Given the description of an element on the screen output the (x, y) to click on. 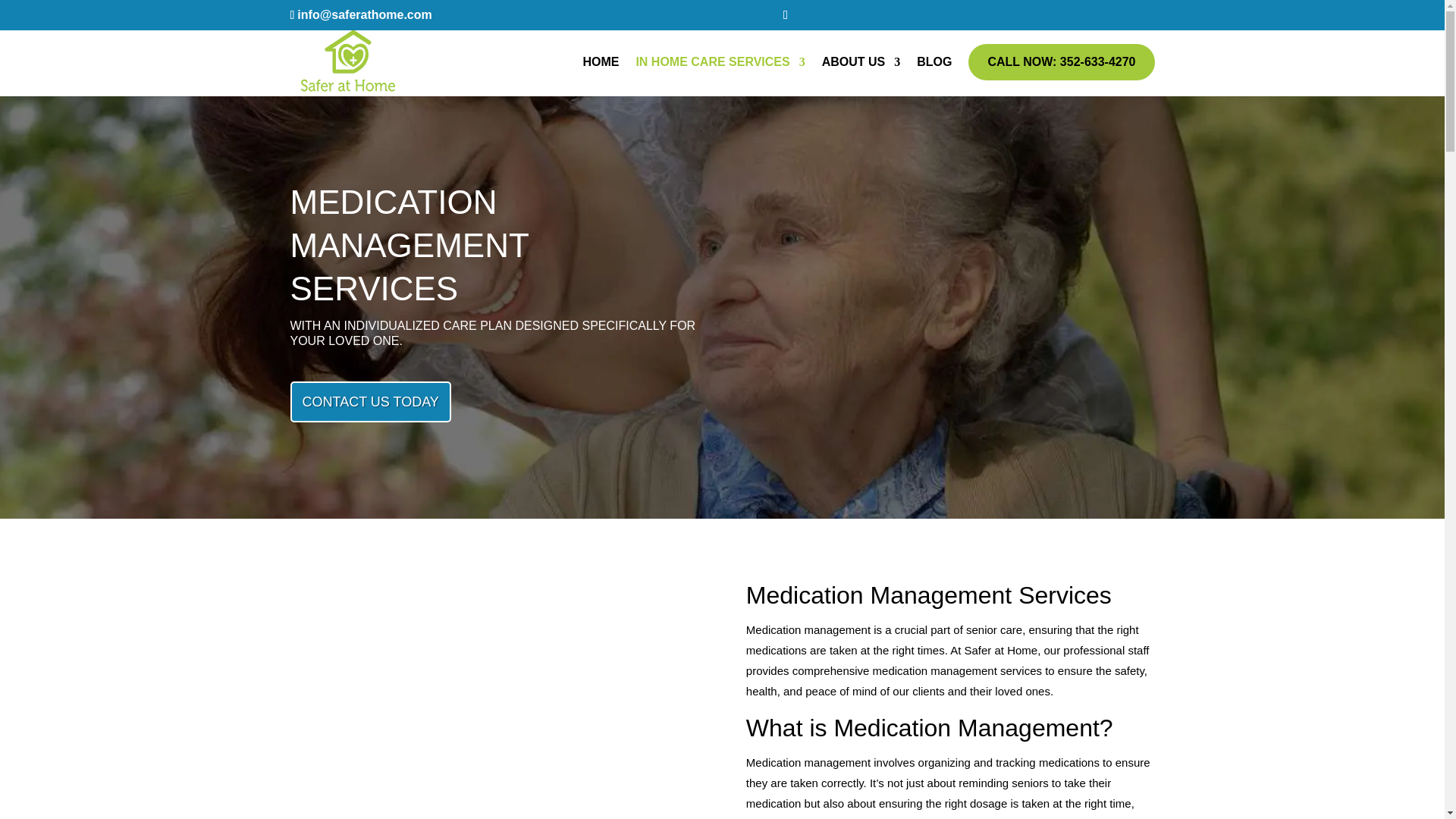
IN HOME CARE SERVICES (719, 76)
CALL NOW: 352-633-4270 (1061, 62)
ABOUT US (861, 76)
HOME (600, 76)
